Given the description of an element on the screen output the (x, y) to click on. 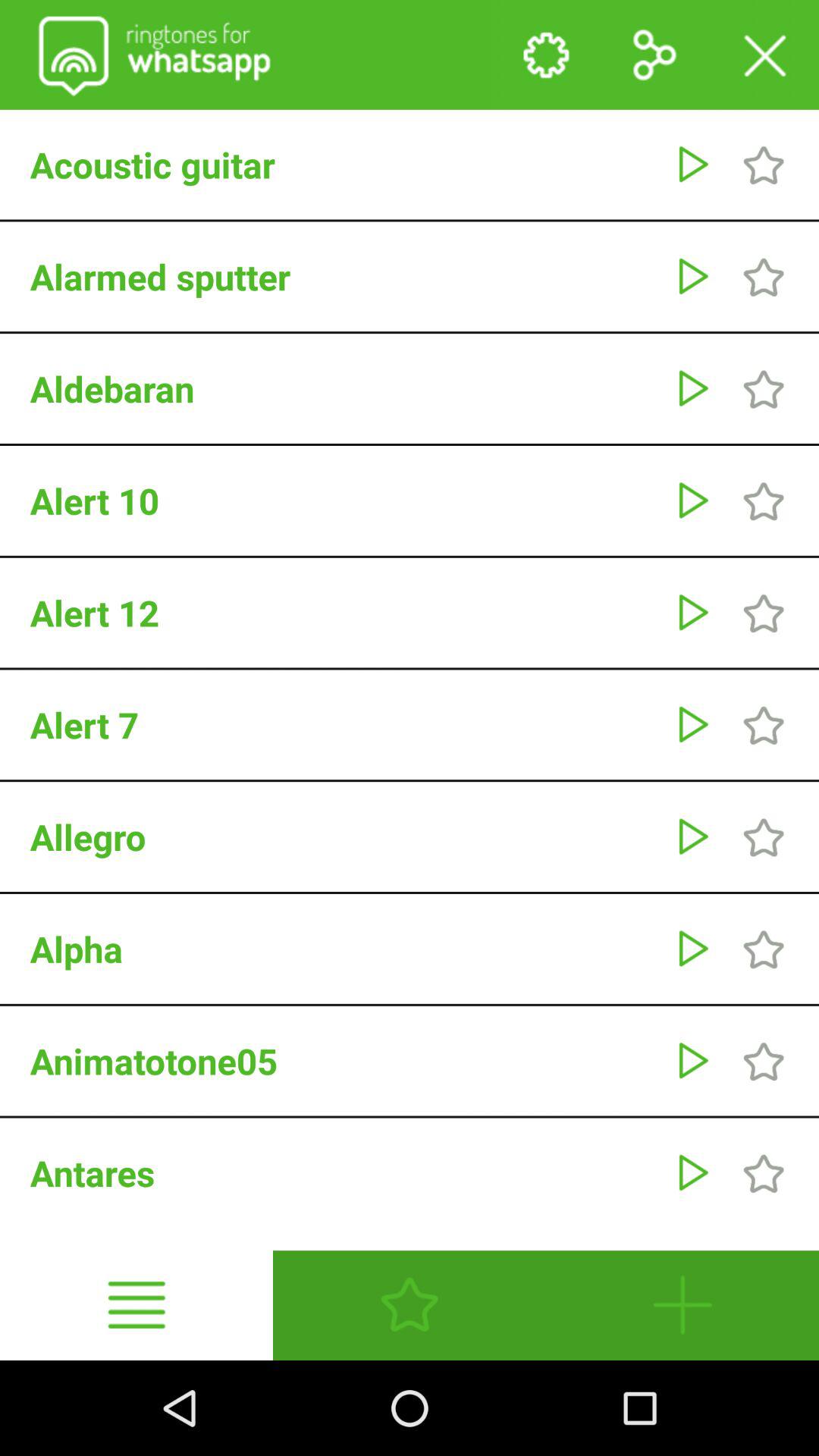
jump until antares icon (344, 1172)
